Given the description of an element on the screen output the (x, y) to click on. 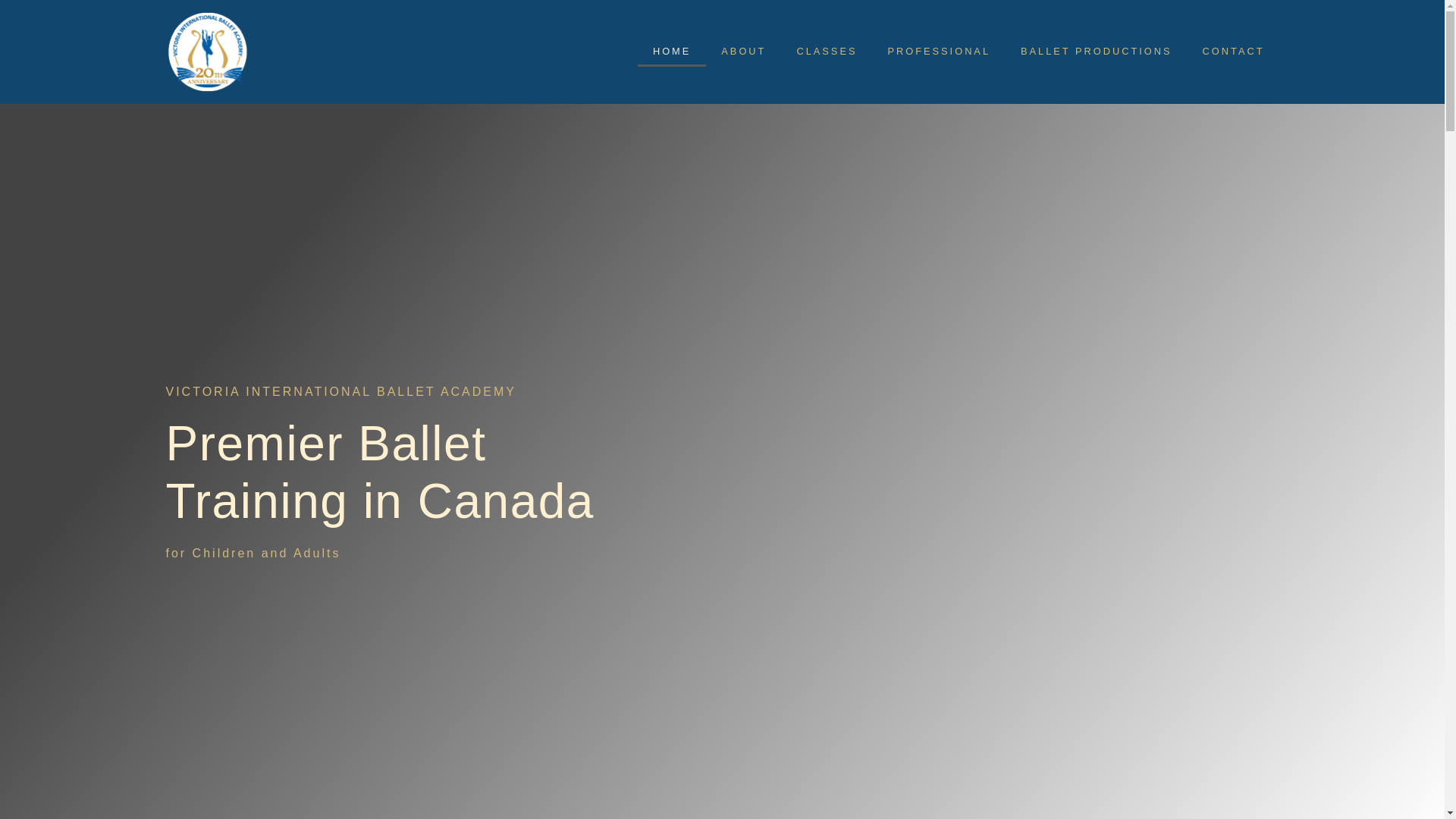
CLASSES (826, 51)
ABOUT (743, 51)
BALLET PRODUCTIONS (1097, 51)
HOME (671, 51)
PROFESSIONAL (939, 51)
CONTACT (1233, 51)
